Given the description of an element on the screen output the (x, y) to click on. 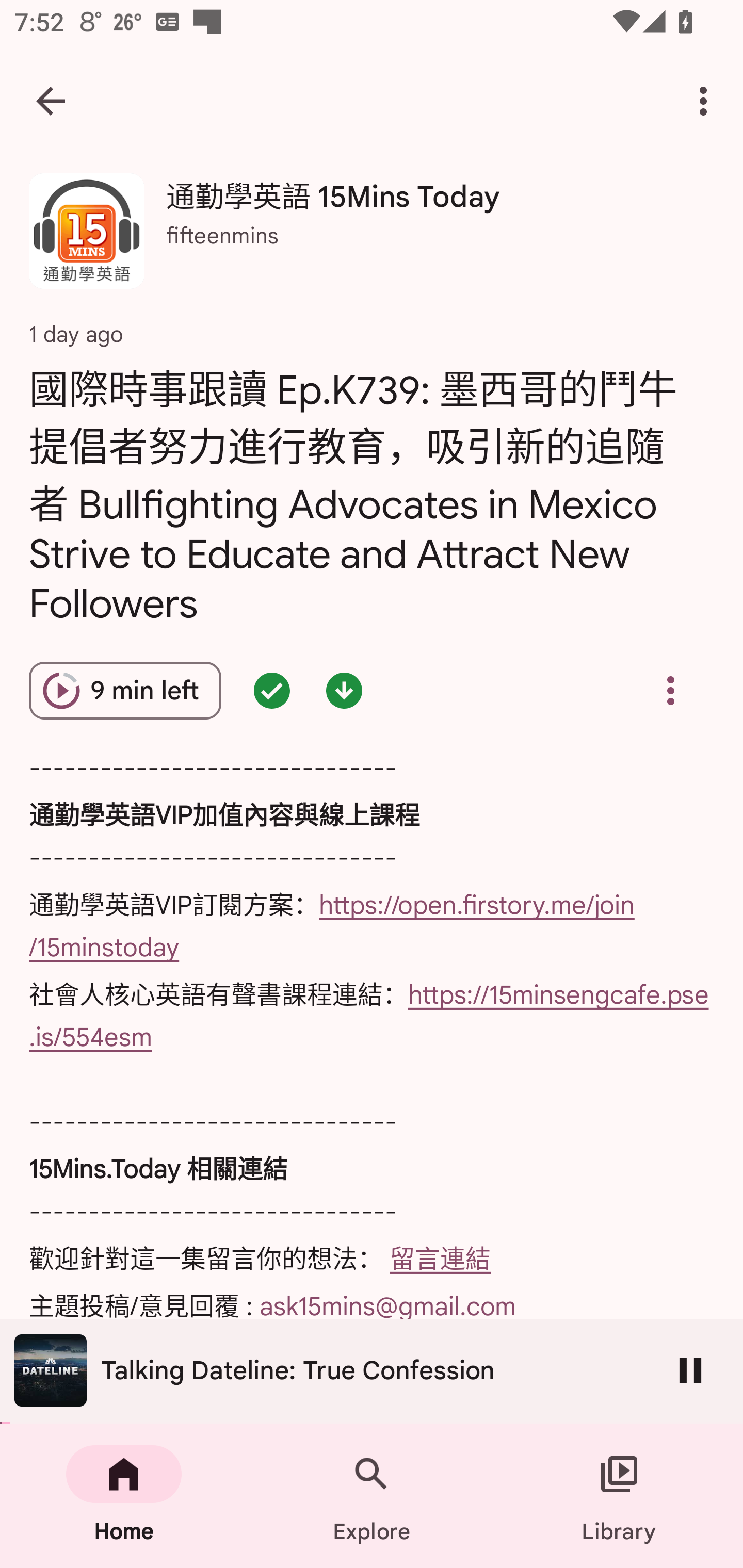
Navigate up (50, 101)
More options (706, 101)
通勤學英語 15Mins Today 通勤學英語 15Mins Today fifteenmins (371, 238)
Episode queued - double tap for options (271, 690)
Episode downloaded - double tap for options (344, 690)
Overflow menu (670, 690)
Pause (690, 1370)
Explore (371, 1495)
Library (619, 1495)
